Given the description of an element on the screen output the (x, y) to click on. 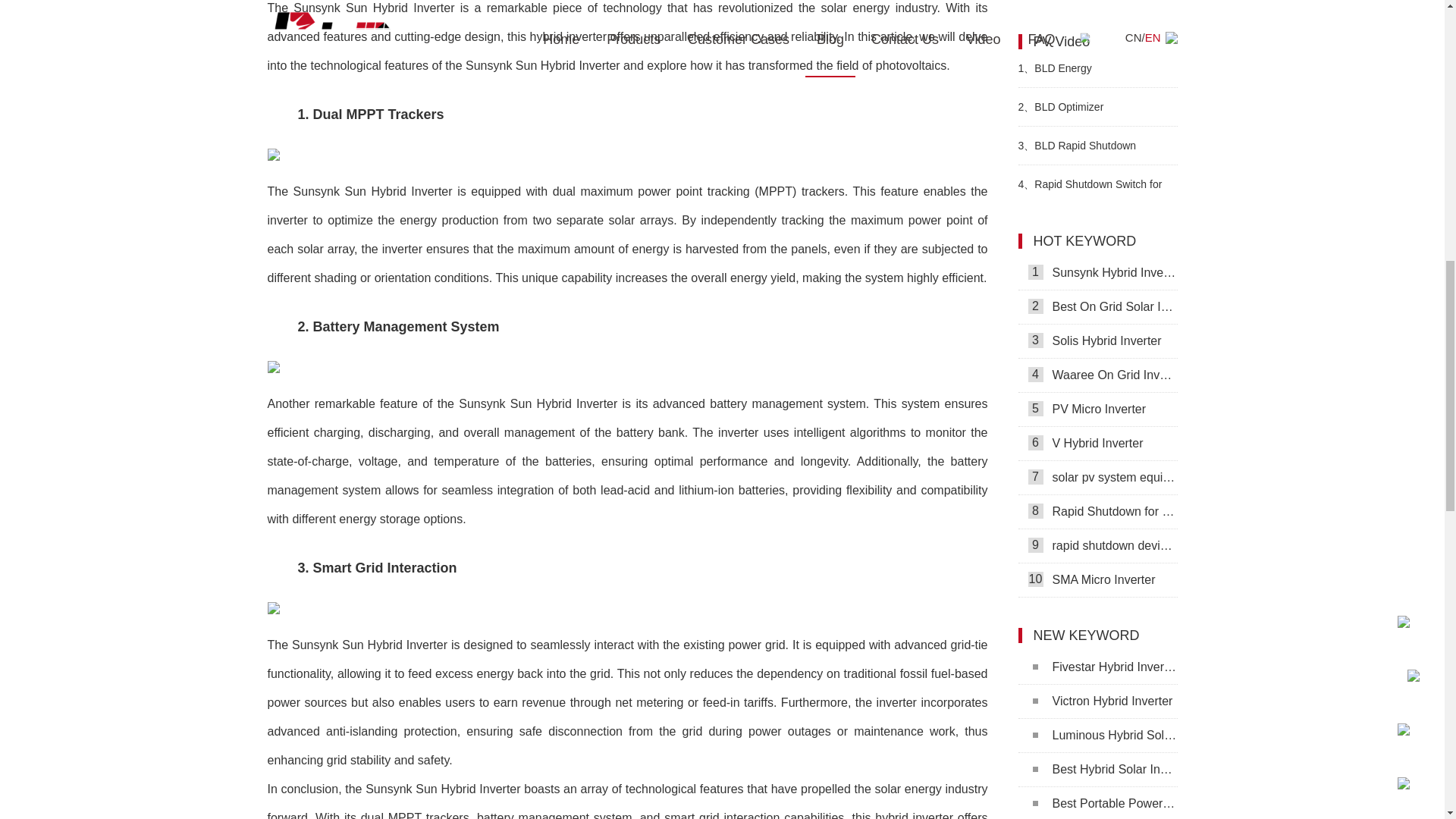
Rapid Shutdown for Solar PV System (1096, 512)
Best On Grid Solar Inverter (1096, 307)
Victron Hybrid Inverter (1096, 701)
BLD Energy (1096, 67)
V Hybrid Inverter (1096, 443)
SMA Micro Inverter (1096, 580)
Luminous Hybrid Solar Inverter (1096, 735)
Solis Hybrid Inverter (1096, 341)
BLD Optimizer (1096, 106)
Waaree On Grid Inverter (1096, 375)
